Given the description of an element on the screen output the (x, y) to click on. 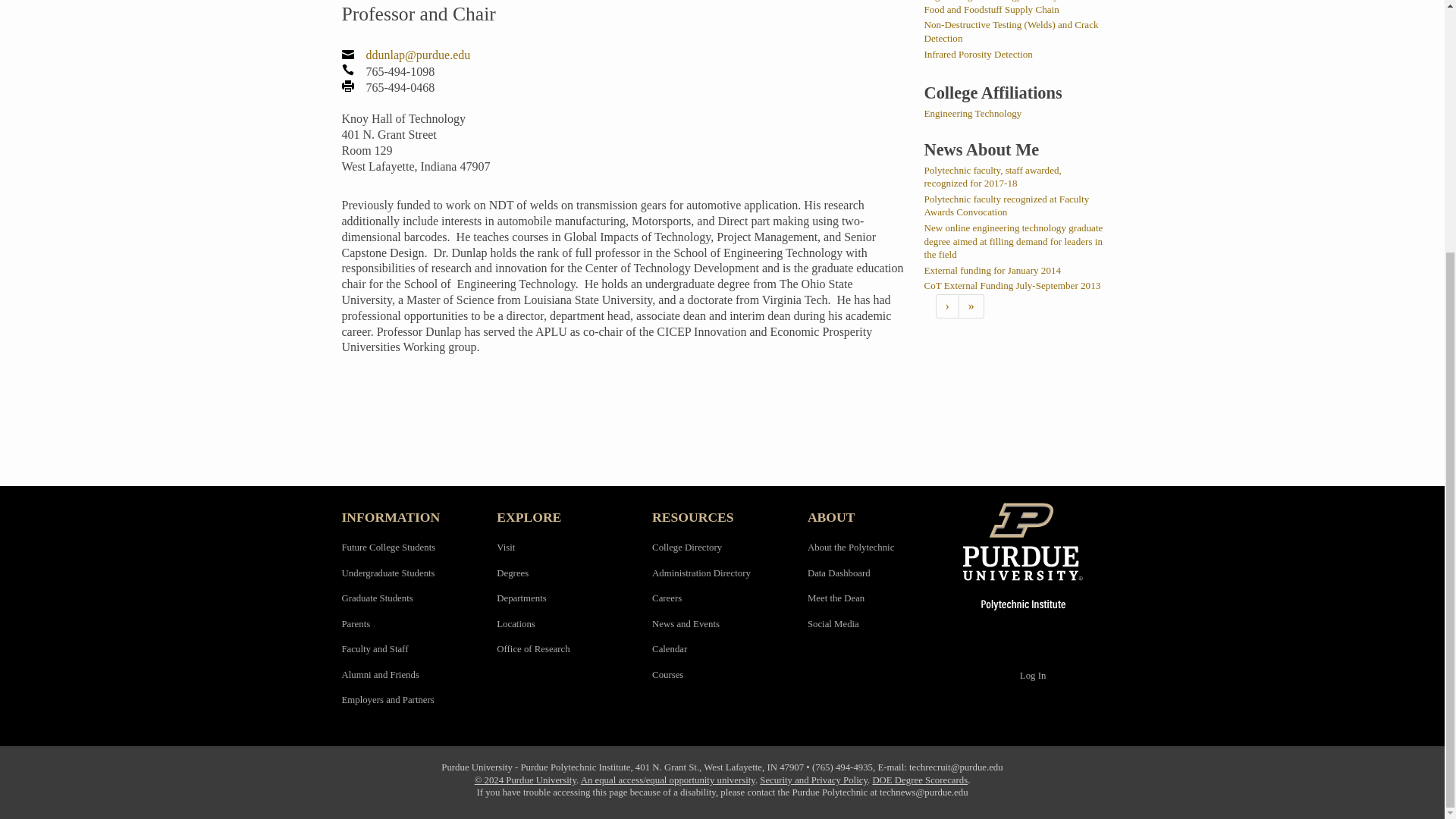
Purdue Polytechnic Institute (1032, 556)
Engineering Technology (972, 112)
Polytechnic faculty recognized at Faculty Awards Convocation (1006, 205)
Infrared Porosity Detection (977, 53)
Polytechnic faculty, staff awarded, recognized for 2017-18 (992, 176)
External funding for January 2014 (992, 270)
CoT External Funding July-September 2013 (1011, 285)
